Given the description of an element on the screen output the (x, y) to click on. 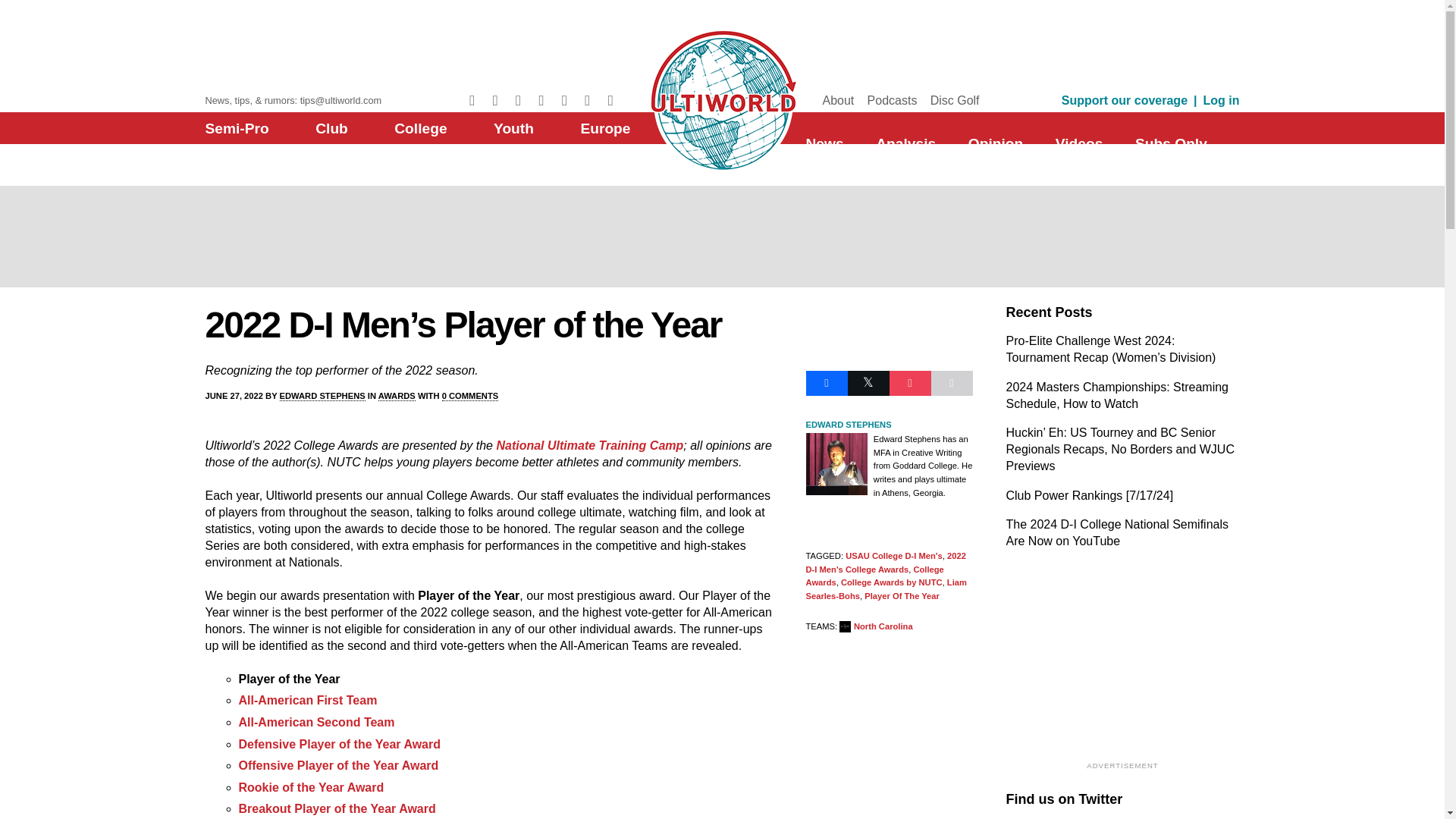
Analysis (906, 143)
Ultiworld (721, 98)
Podcasts (892, 100)
Opinion (995, 143)
Videos (1079, 143)
Youth (513, 128)
Club (331, 128)
Log in (1222, 100)
College (420, 128)
Subs Only (1171, 143)
Disc Golf (954, 100)
About (837, 100)
Semi-Pro (236, 128)
Europe (604, 128)
View all posts by Edward Stephens (322, 396)
